Given the description of an element on the screen output the (x, y) to click on. 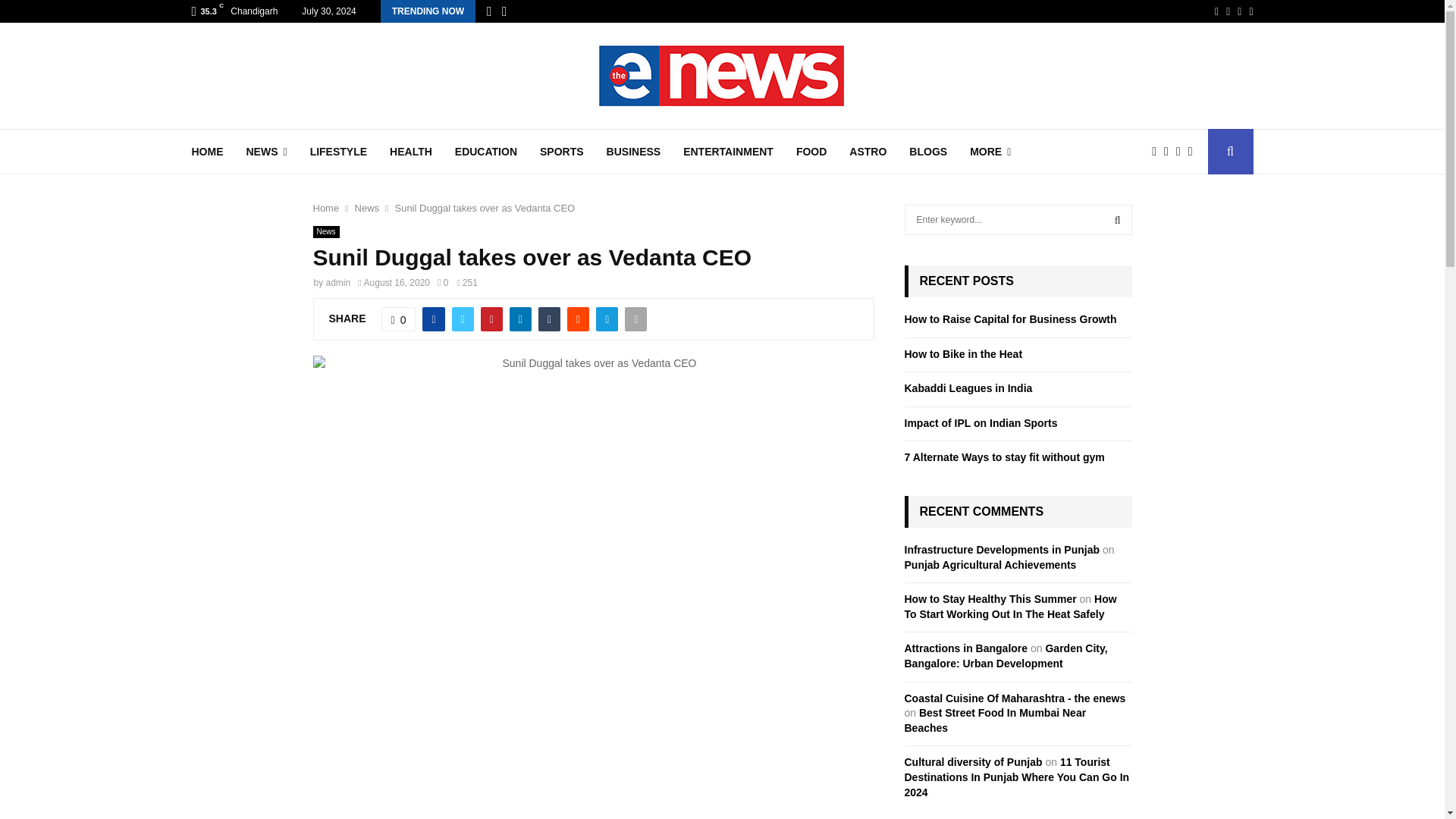
EDUCATION (485, 151)
BUSINESS (634, 151)
MORE (989, 151)
NEWS (266, 151)
ENTERTAINMENT (727, 151)
LIFESTYLE (338, 151)
Like (398, 319)
SPORTS (561, 151)
HEALTH (411, 151)
